Given the description of an element on the screen output the (x, y) to click on. 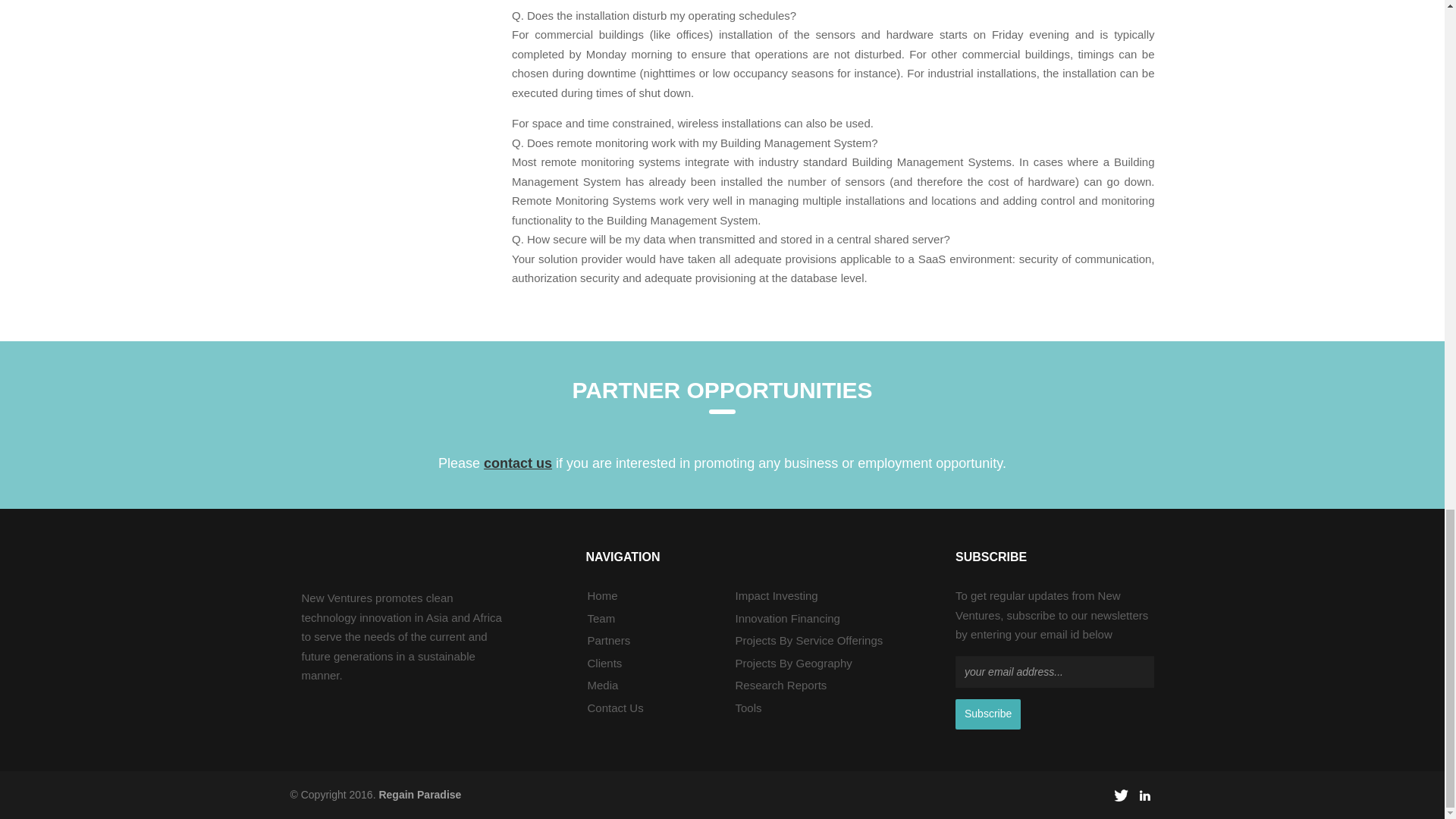
social-linkedin (1144, 794)
social-twitter (1120, 794)
Subscribe (987, 714)
